Given the description of an element on the screen output the (x, y) to click on. 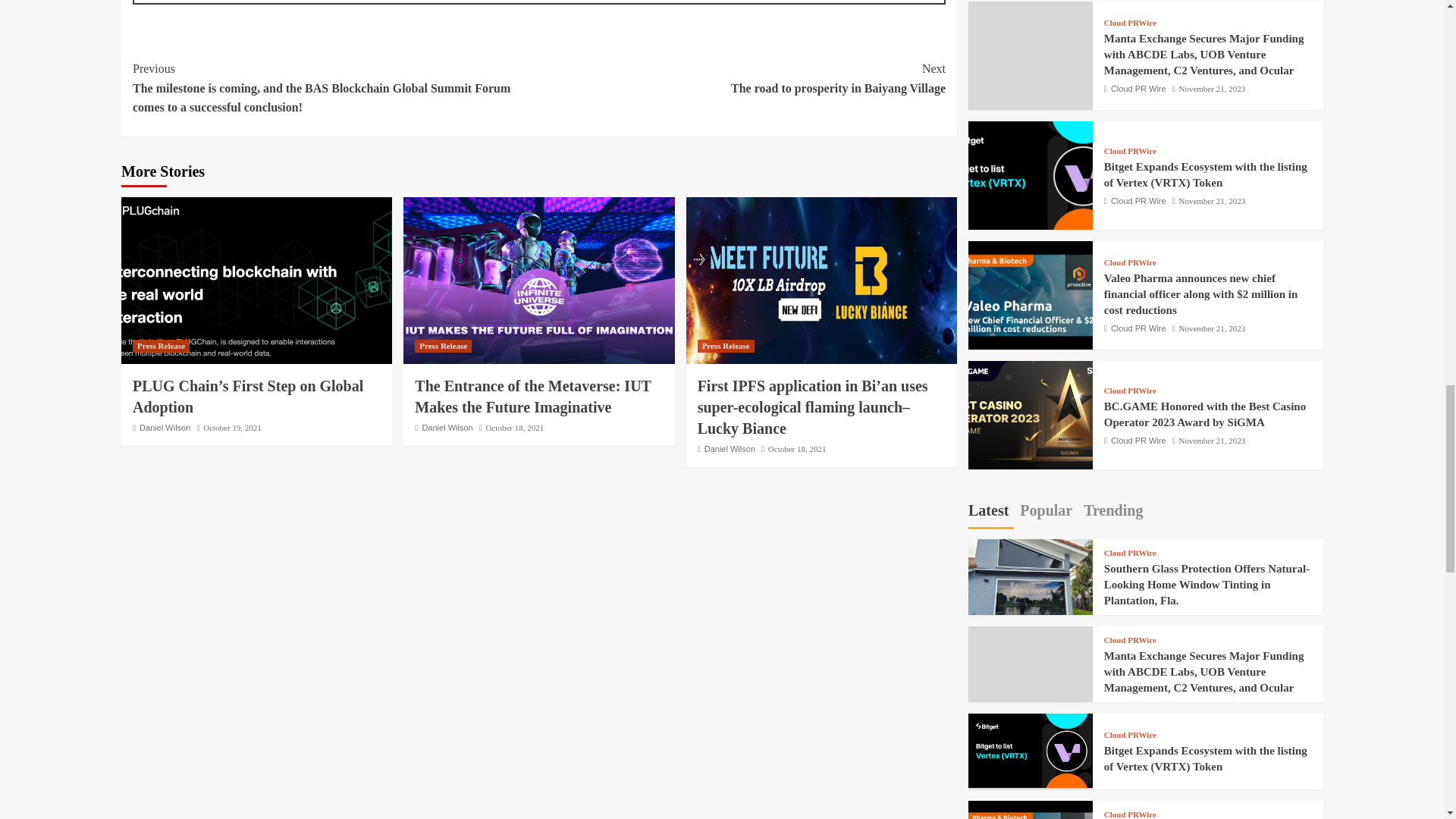
October 18, 2021 (515, 427)
Press Release (442, 345)
October 19, 2021 (232, 427)
Daniel Wilson (446, 427)
Daniel Wilson (164, 427)
Press Release (741, 77)
